Given the description of an element on the screen output the (x, y) to click on. 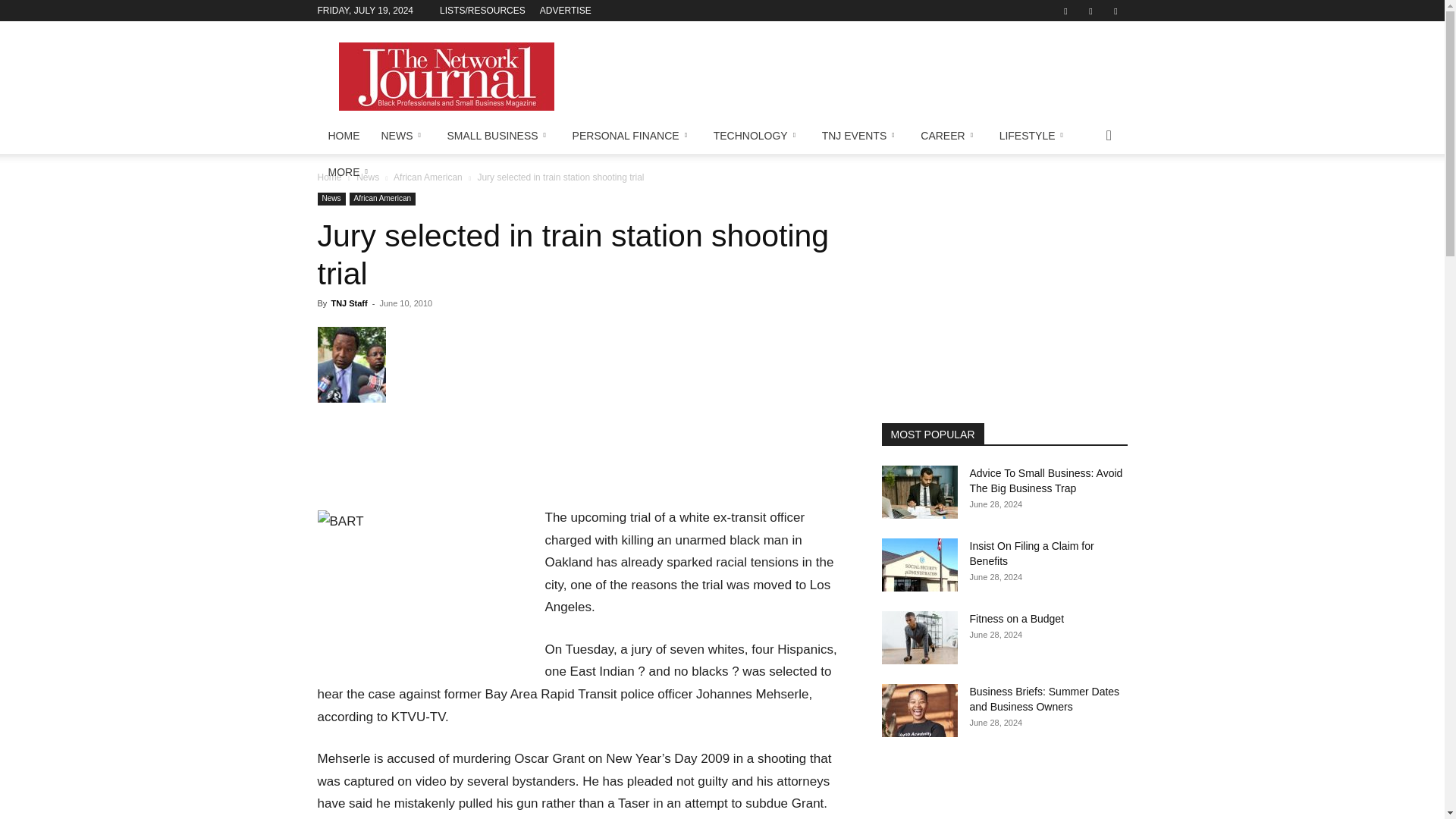
View all posts in African American (428, 176)
Twitter (1090, 10)
bartteaser (351, 364)
Advertisement (850, 76)
Facebook (1065, 10)
Advertisement (580, 456)
View all posts in News (367, 176)
Youtube (1114, 10)
